Given the description of an element on the screen output the (x, y) to click on. 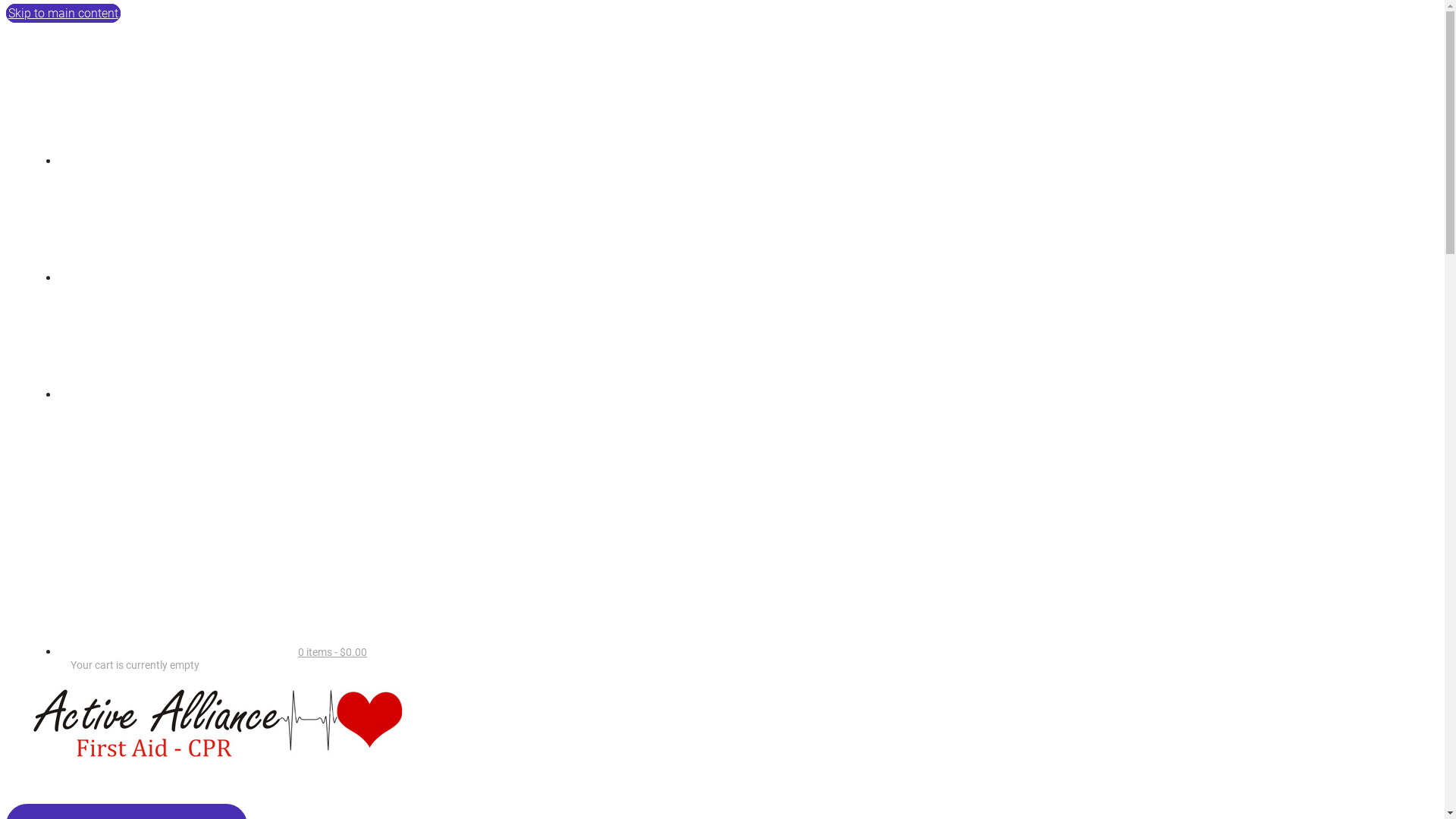
Twitter Element type: hover (172, 277)
Skip to main content Element type: text (63, 12)
LinkedIn Element type: hover (172, 394)
0 items - $0.00 Element type: text (218, 652)
Facebook Element type: hover (172, 160)
